Given the description of an element on the screen output the (x, y) to click on. 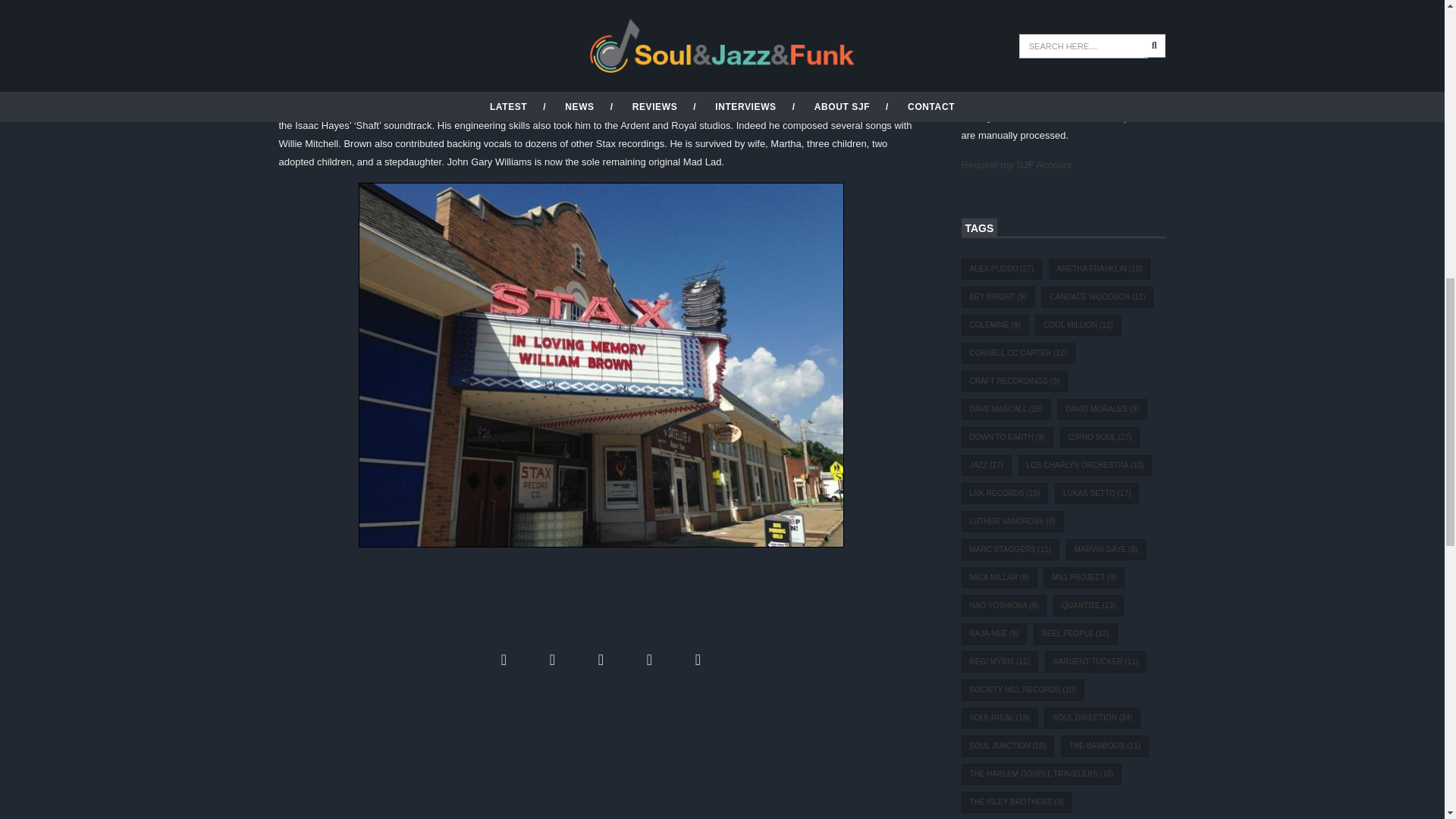
Request my SJF Account (1015, 164)
